Given the description of an element on the screen output the (x, y) to click on. 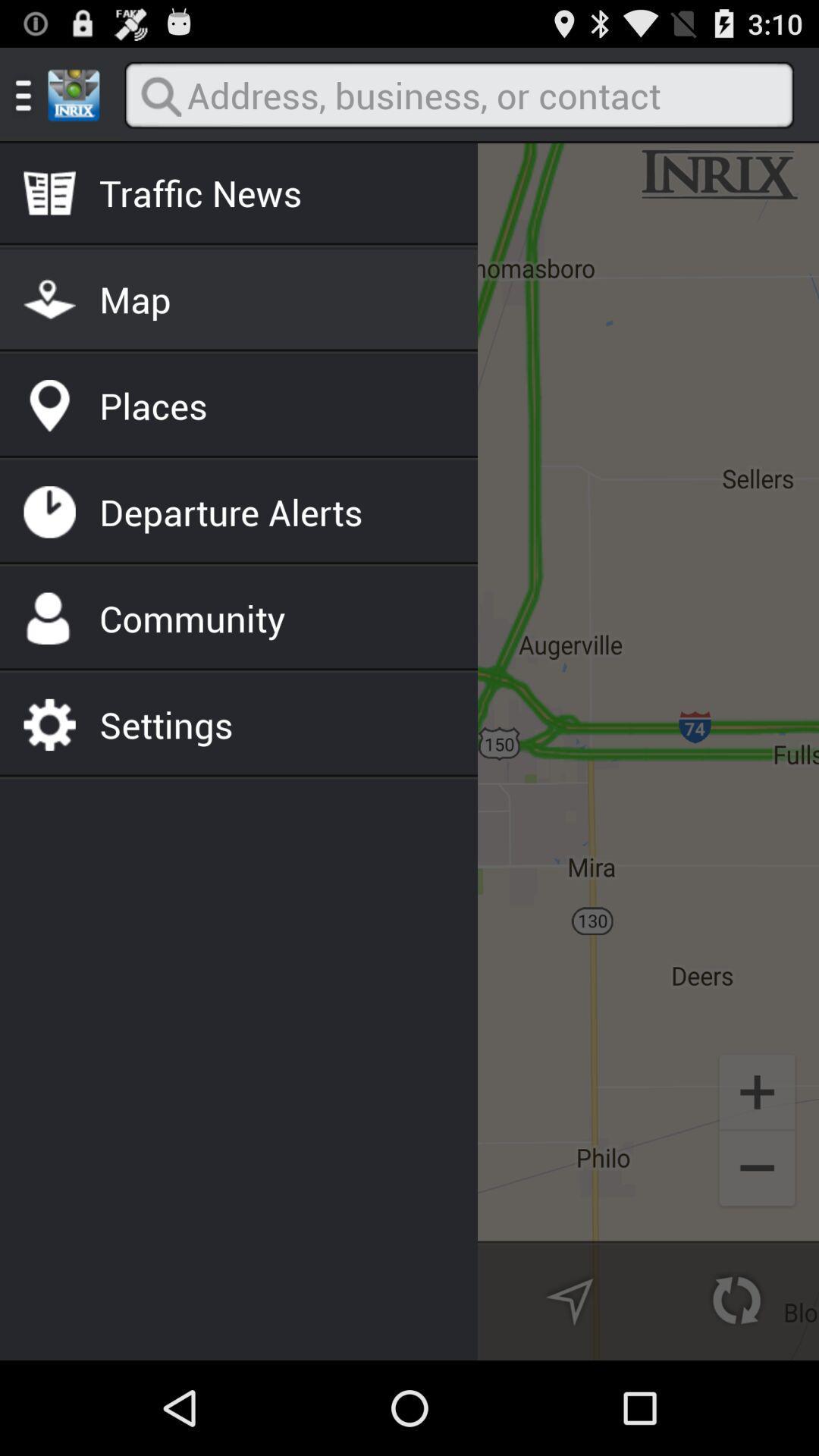
choose the settings icon (166, 724)
